Given the description of an element on the screen output the (x, y) to click on. 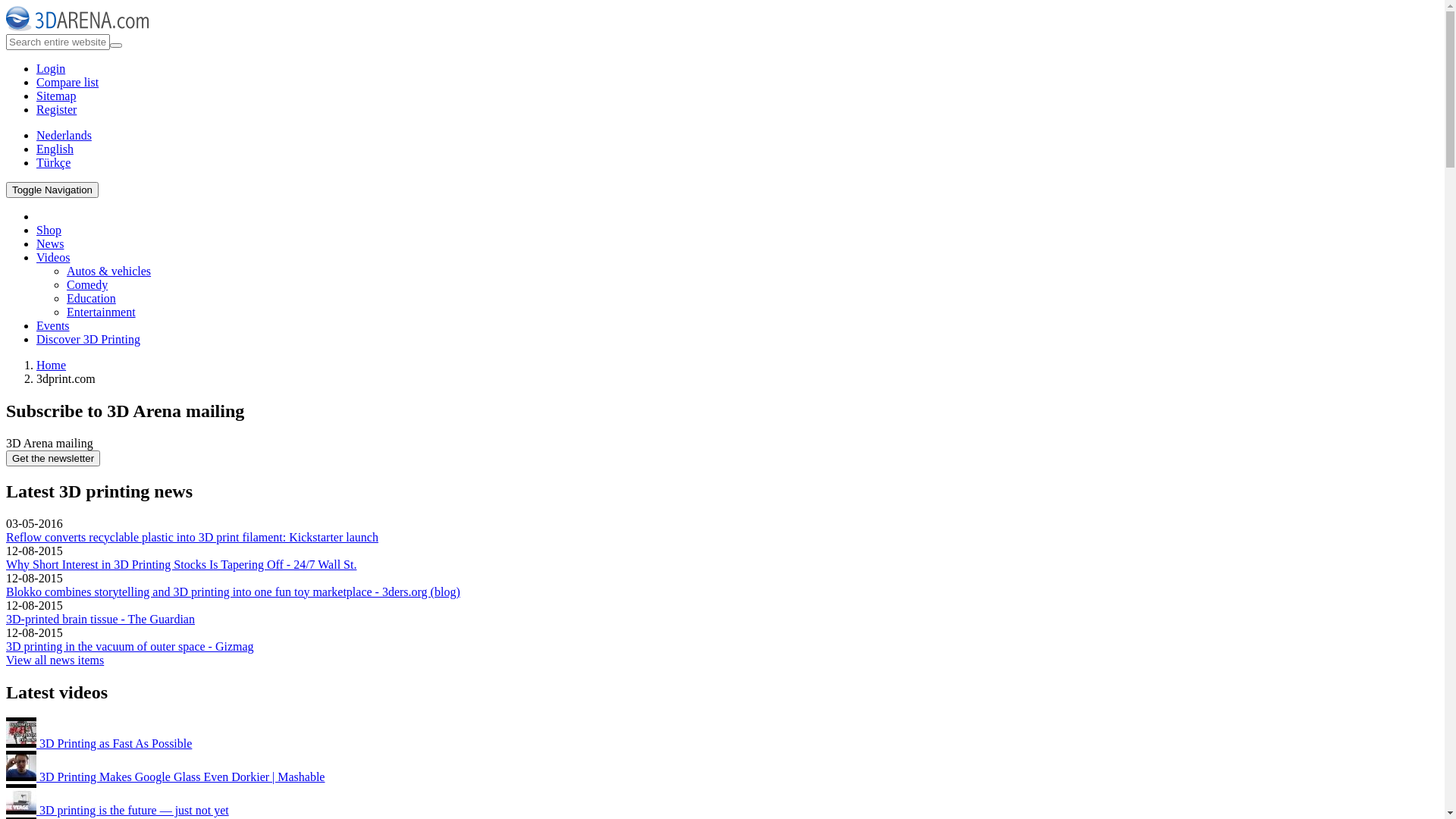
Enter the terms you wish to search for. Element type: hover (57, 42)
English Element type: text (54, 148)
Skip to main content Element type: text (56, 6)
3D Printing as Fast As Possible Element type: hover (21, 732)
Comedy Element type: text (86, 284)
Compare list Element type: text (67, 81)
Discover 3D Printing Element type: text (88, 338)
Autos & vehicles Element type: text (108, 270)
Education Element type: text (91, 297)
Search Element type: text (28, 52)
Nederlands Element type: text (63, 134)
3D Printing as Fast As Possible Element type: text (98, 743)
Get the newsletter Element type: text (53, 458)
Register Element type: text (56, 109)
Entertainment Element type: text (100, 311)
Events Element type: text (52, 325)
View all news items Element type: text (54, 659)
Videos Element type: text (52, 257)
Home Element type: hover (77, 26)
3D Printing Makes Google Glass Even Dorkier | Mashable Element type: hover (21, 765)
Home Element type: text (50, 364)
Login Element type: text (50, 68)
3D printing in the vacuum of outer space - Gizmag Element type: text (130, 646)
News Element type: text (49, 243)
3D-printed brain tissue - The Guardian Element type: text (100, 618)
3D Printing Makes Google Glass Even Dorkier | Mashable Element type: text (165, 776)
Shop Element type: text (48, 229)
Sitemap Element type: text (55, 95)
Toggle Navigation Element type: text (52, 189)
